Given the description of an element on the screen output the (x, y) to click on. 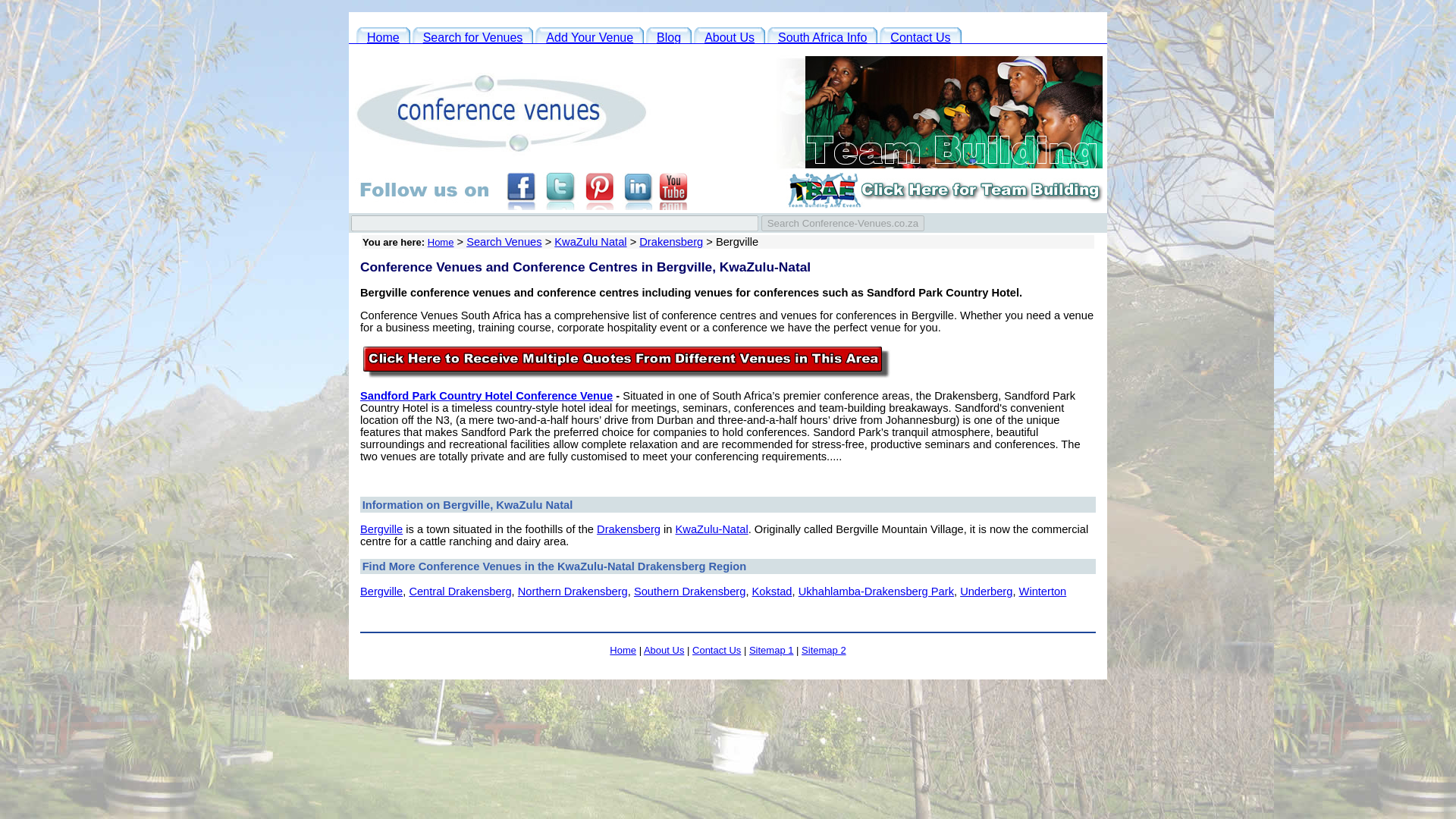
Drakensberg (671, 241)
Ukhahlamba-Drakensberg Park (875, 591)
Sitemap 2 (823, 650)
Winterton (1043, 591)
Home (383, 36)
South Africa Info (822, 36)
Southern Drakensberg (689, 591)
Search Conference Venues (473, 36)
Add Your Conference Venue (589, 36)
Central Drakensberg (460, 591)
